Given the description of an element on the screen output the (x, y) to click on. 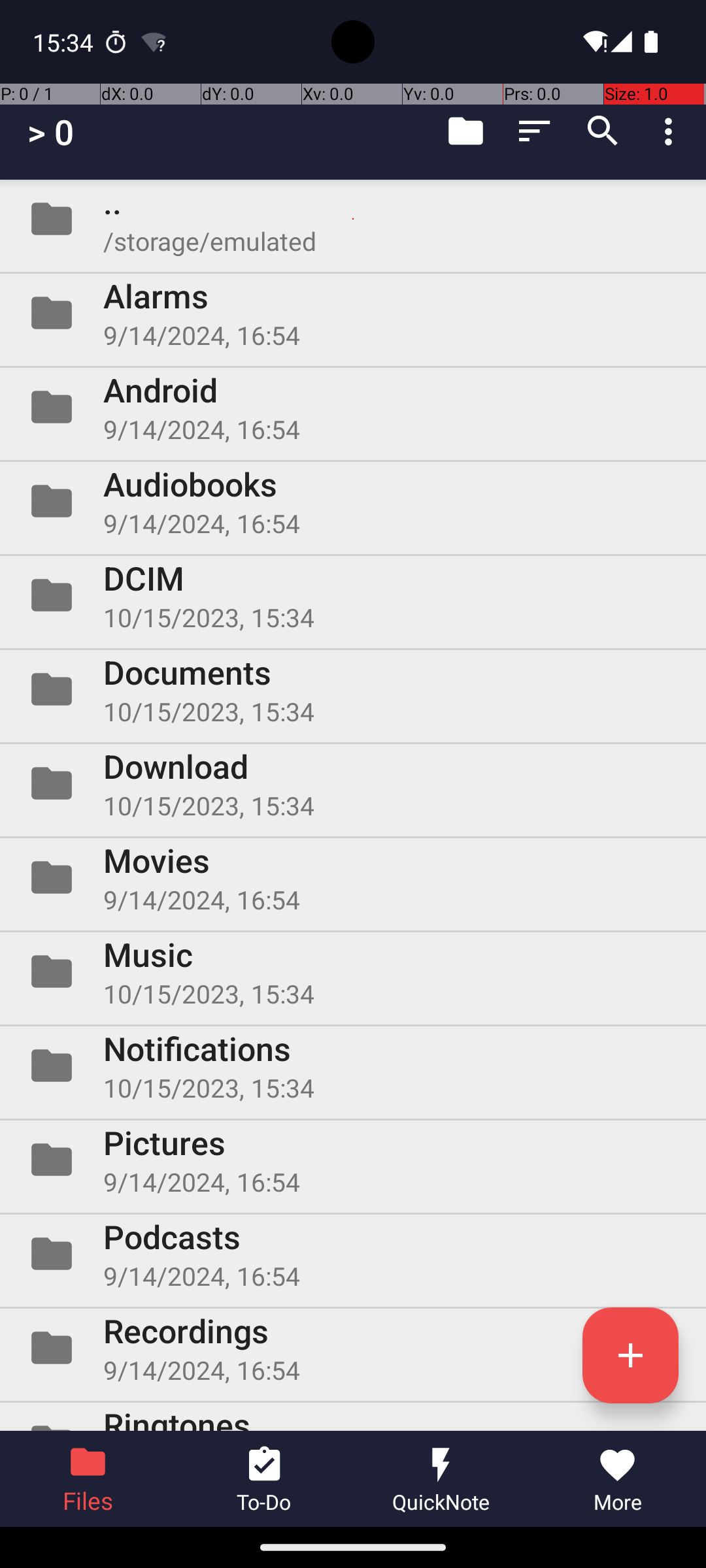
> 0 Element type: android.widget.TextView (50, 131)
Folder .. /storage/emulated/0 Element type: android.widget.LinearLayout (353, 218)
Folder Alarms 10/15/2023, 15:34 Element type: android.widget.LinearLayout (353, 312)
Folder Android  Element type: android.widget.LinearLayout (353, 406)
Folder Audiobooks  Element type: android.widget.LinearLayout (353, 500)
Folder DCIM  Element type: android.widget.LinearLayout (353, 594)
Folder Documents  Element type: android.widget.LinearLayout (353, 689)
Folder Download  Element type: android.widget.LinearLayout (353, 783)
Folder Movies  Element type: android.widget.LinearLayout (353, 877)
Folder Music  Element type: android.widget.LinearLayout (353, 971)
Folder Notifications  Element type: android.widget.LinearLayout (353, 1065)
Folder Pictures  Element type: android.widget.LinearLayout (353, 1159)
Folder Podcasts  Element type: android.widget.LinearLayout (353, 1253)
Folder Recordings  Element type: android.widget.LinearLayout (353, 1347)
Folder Ringtones  Element type: android.widget.LinearLayout (353, 1416)
